Given the description of an element on the screen output the (x, y) to click on. 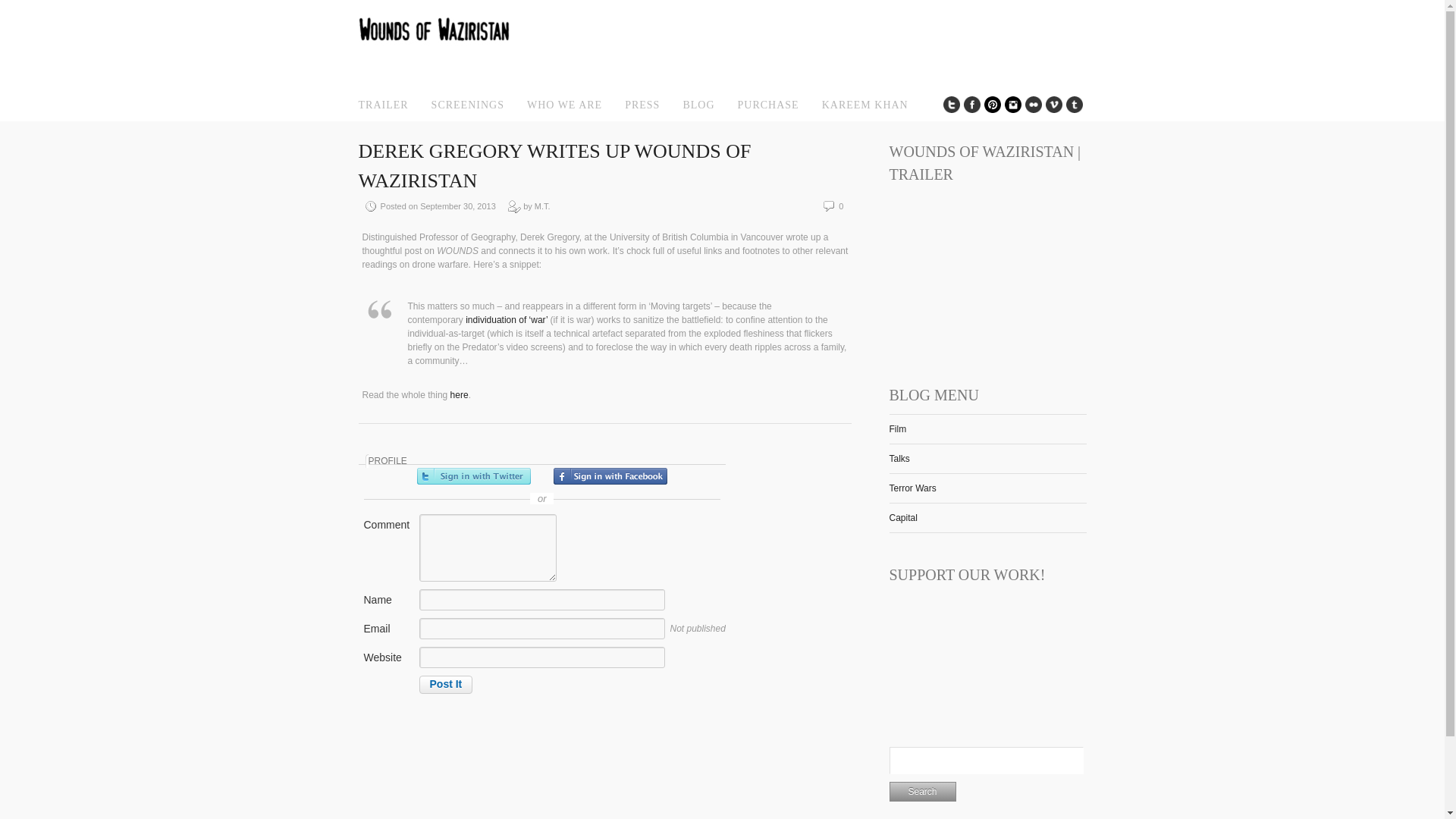
here (458, 394)
DEREK GREGORY WRITES UP WOUNDS OF WAZIRISTAN (554, 165)
Capital (902, 517)
Film (896, 429)
Terror Wars (912, 488)
PURCHASE (768, 105)
Search (921, 792)
Sign in with Twitter (473, 475)
Search (921, 792)
KAREEM KHAN (865, 105)
